Given the description of an element on the screen output the (x, y) to click on. 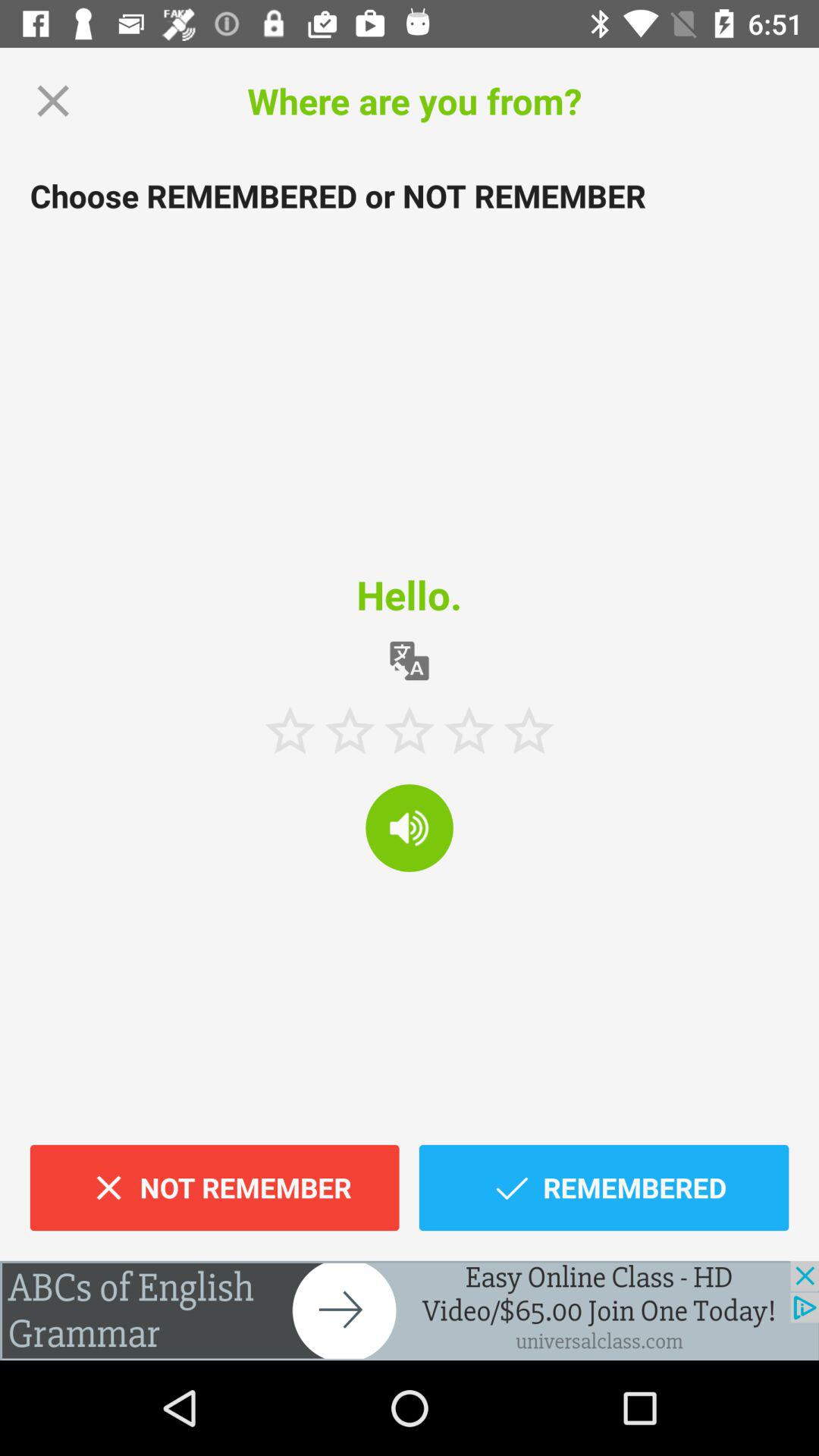
volume section (409, 827)
